Given the description of an element on the screen output the (x, y) to click on. 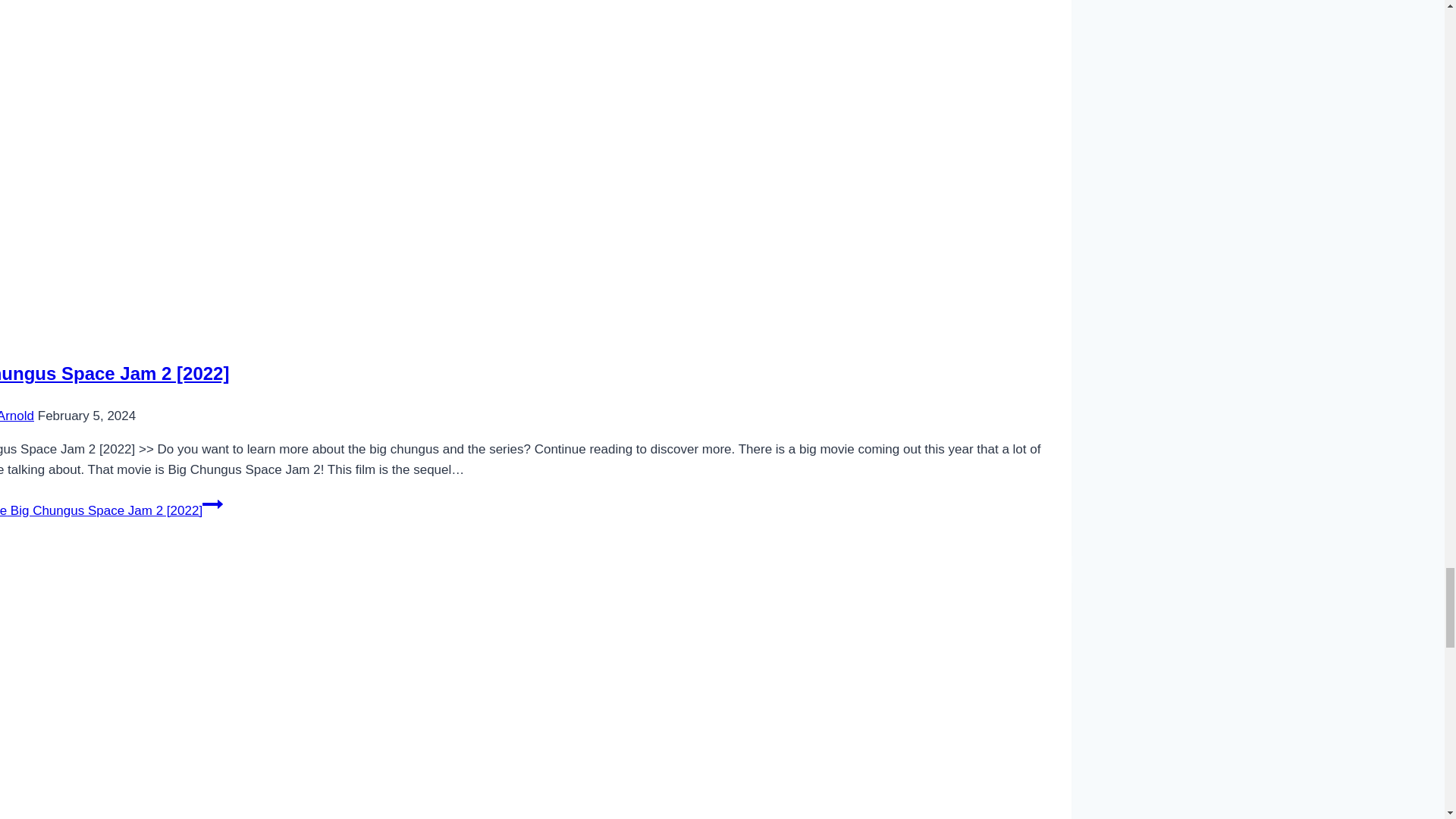
Continue (212, 504)
